Given the description of an element on the screen output the (x, y) to click on. 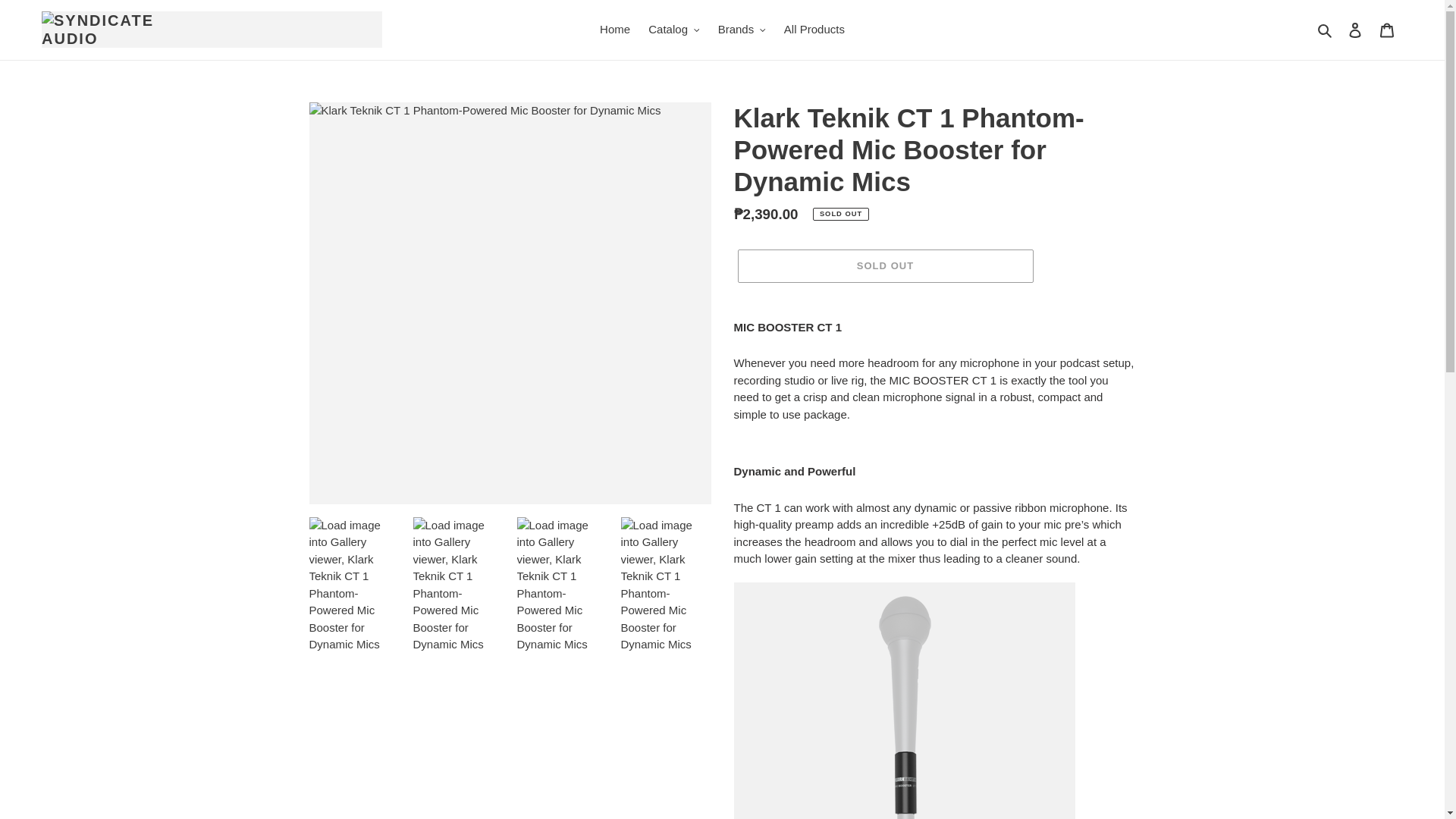
Catalog (673, 29)
Home (614, 29)
